Given the description of an element on the screen output the (x, y) to click on. 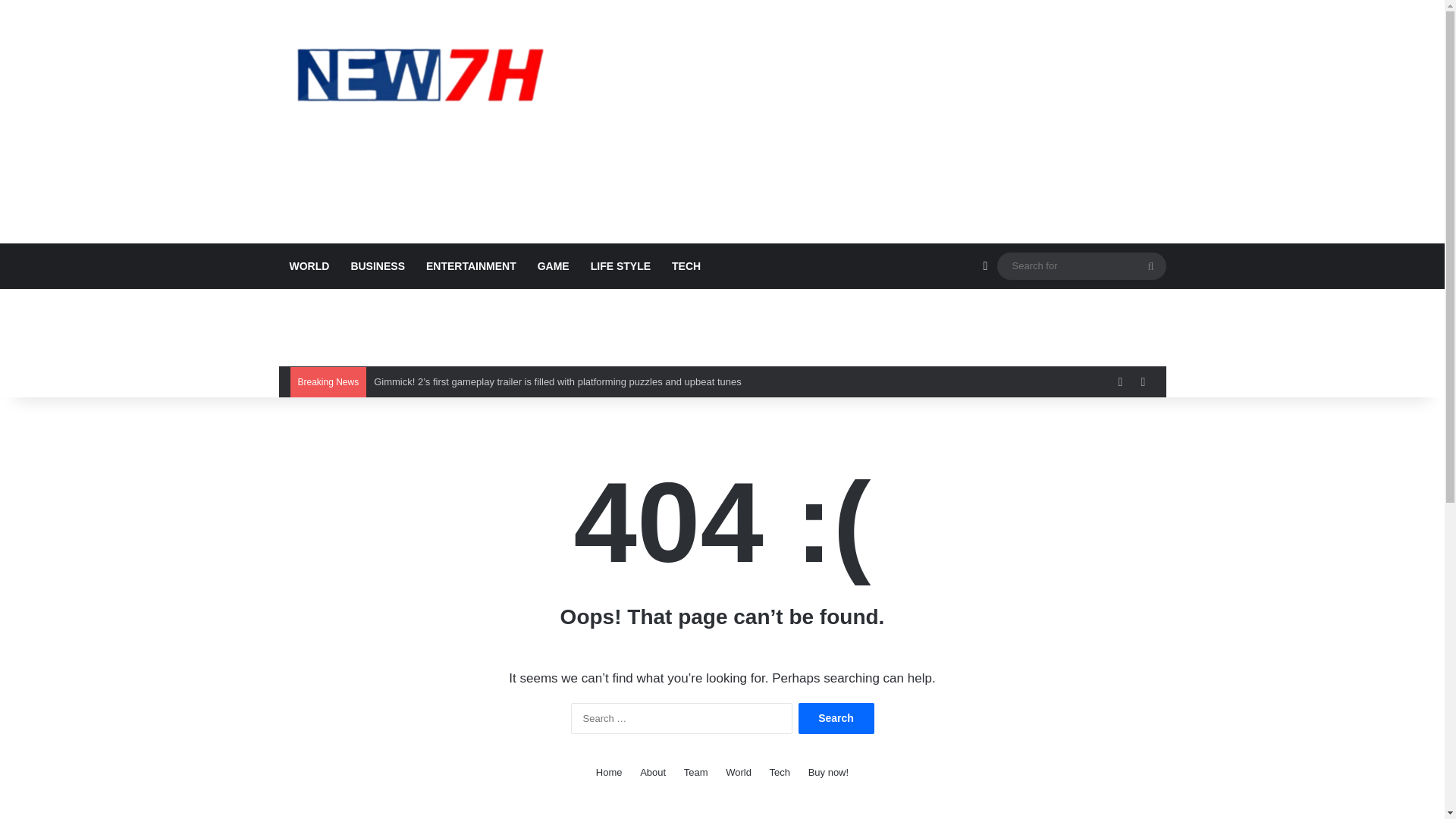
Tech (780, 772)
Search (835, 717)
Search (835, 717)
Buy now! (828, 772)
About (652, 772)
Home (609, 772)
TECH (686, 266)
Team (695, 772)
ENTERTAINMENT (470, 266)
LIFE STYLE (620, 266)
WORLD (309, 266)
Search (835, 717)
News7h (419, 73)
BUSINESS (376, 266)
GAME (553, 266)
